Given the description of an element on the screen output the (x, y) to click on. 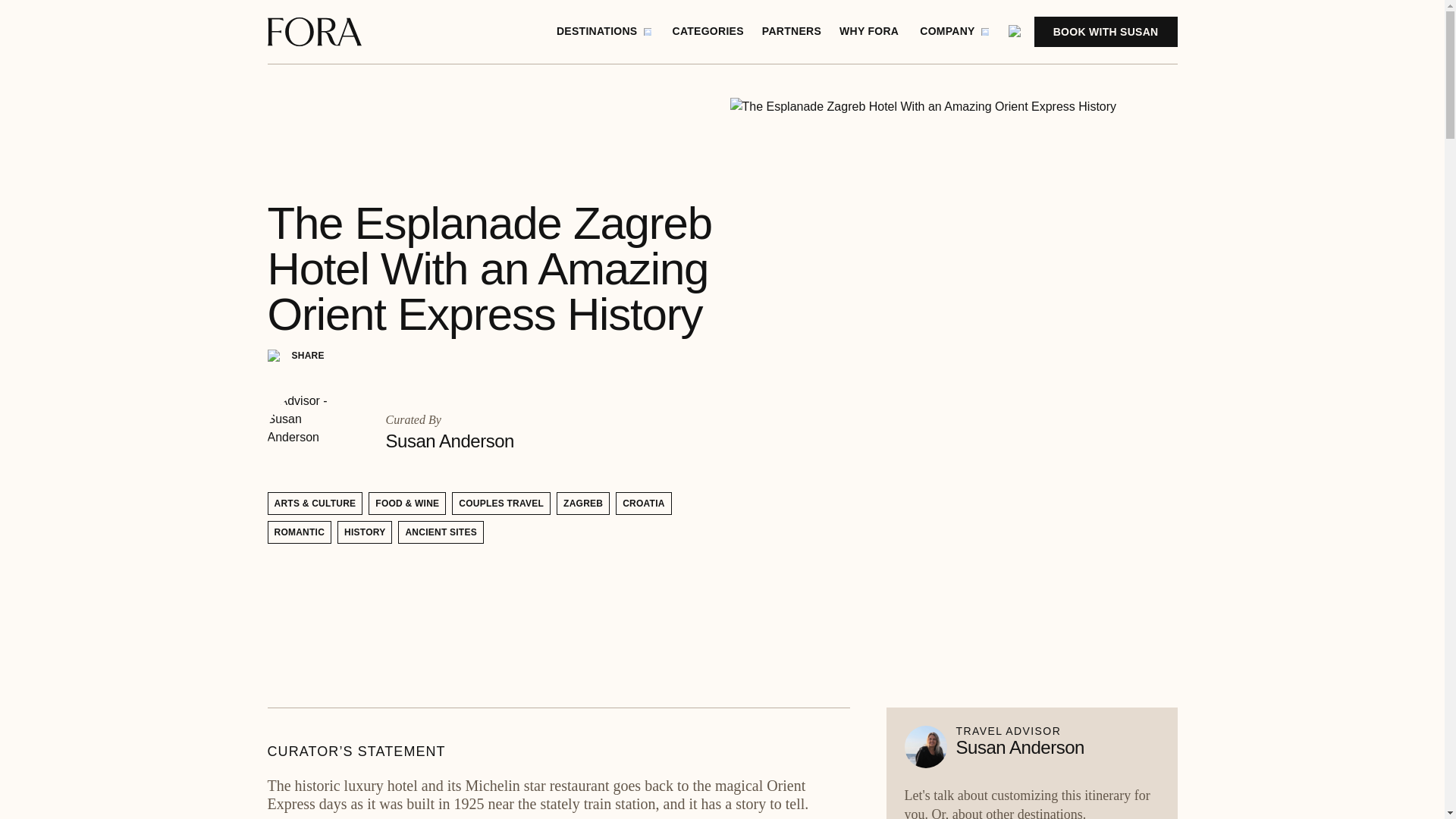
CATEGORIES (707, 31)
COMPANY (953, 31)
PARTNERS (790, 31)
DESTINATIONS (603, 31)
BOOK WITH SUSAN (1105, 31)
WHY FORA (868, 31)
